Given the description of an element on the screen output the (x, y) to click on. 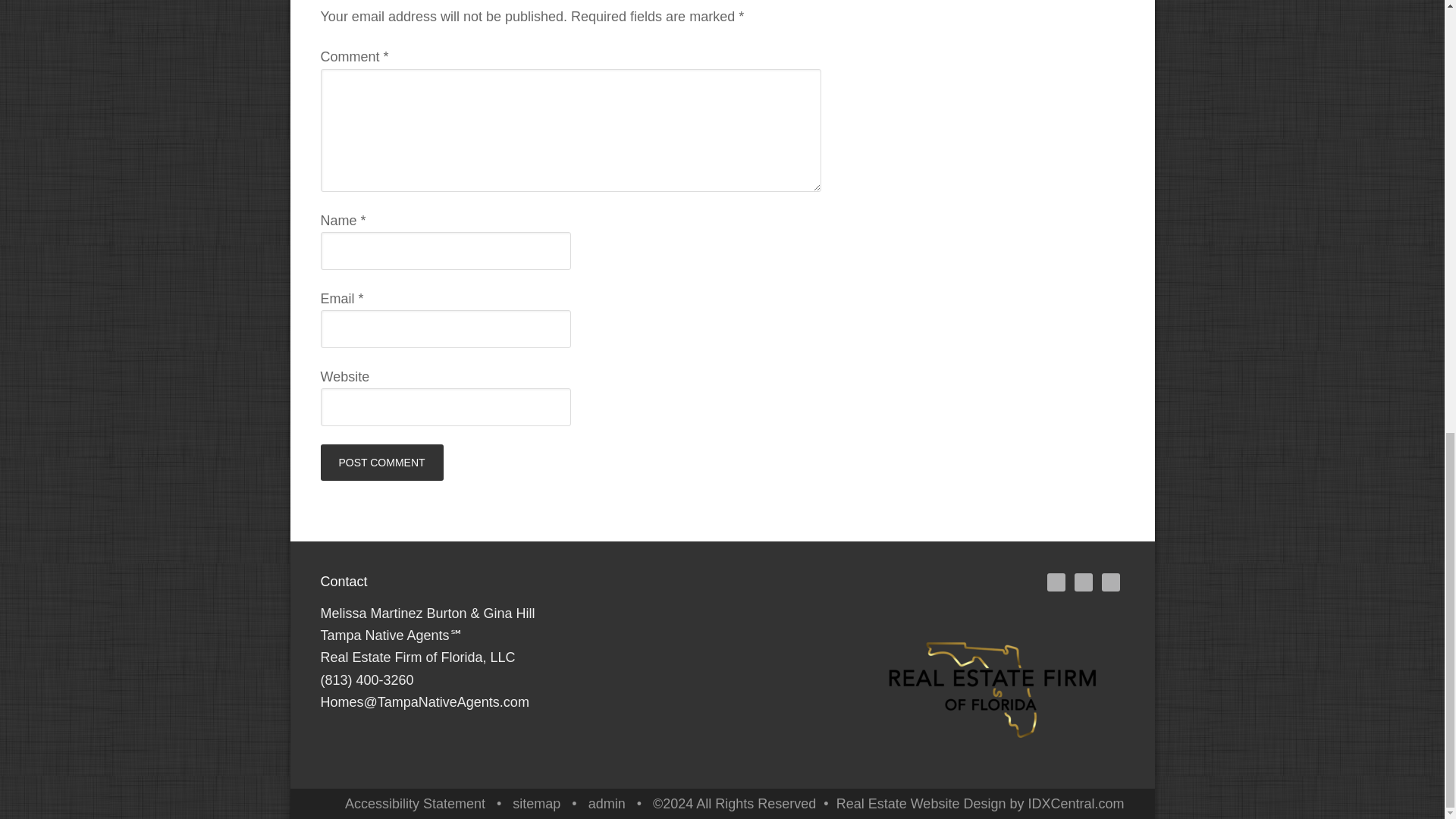
Post Comment (381, 462)
sitemap (536, 803)
Post Comment (381, 462)
Accessibility Statement (414, 803)
Accessibility Statement (414, 803)
Real Estate Website Design (920, 803)
Real Estate Website Design (920, 803)
admin (607, 803)
